Given the description of an element on the screen output the (x, y) to click on. 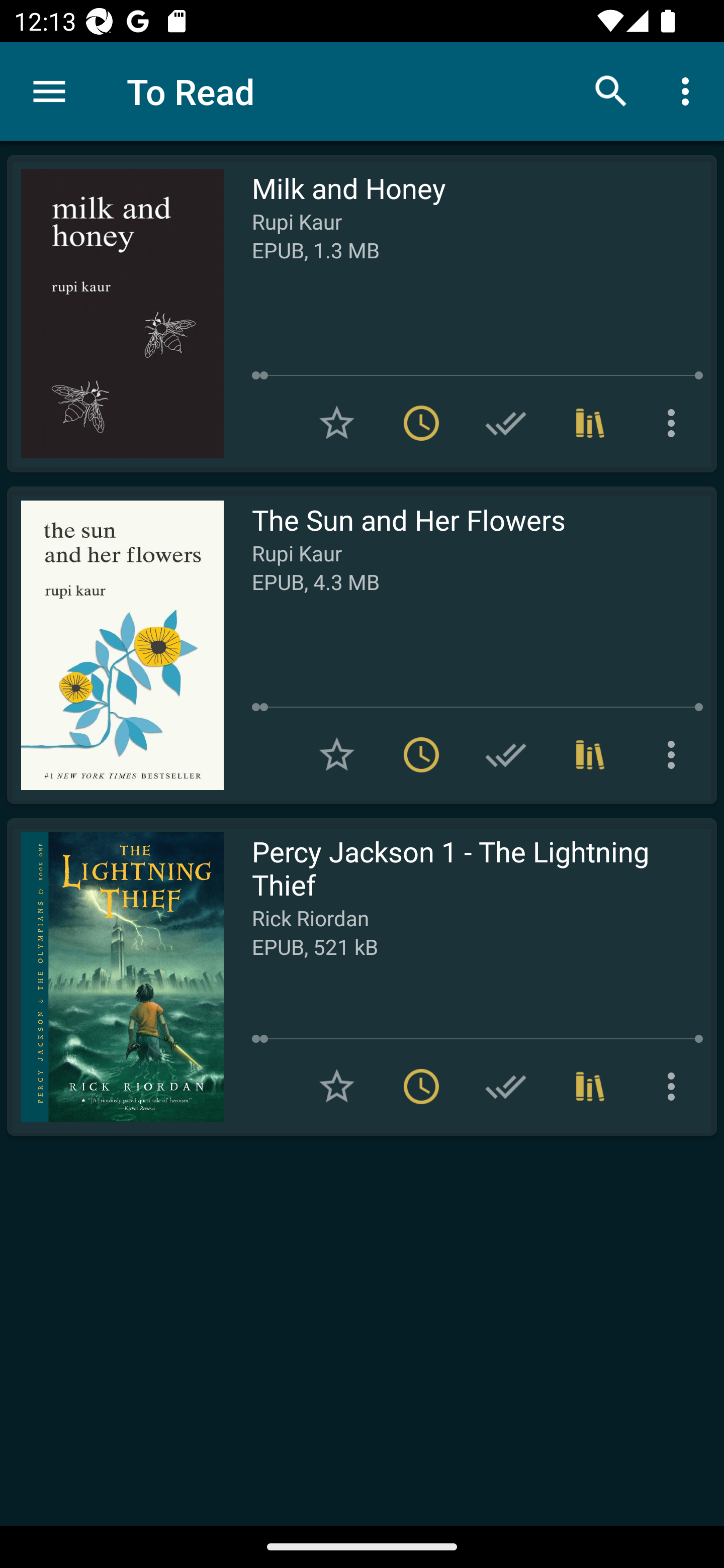
Menu (49, 91)
Search books & documents (611, 90)
More options (688, 90)
Read Milk and Honey (115, 313)
Add to Favorites (336, 423)
Remove from To read (421, 423)
Add to Have read (505, 423)
Collections (2) (590, 423)
More options (674, 423)
Read The Sun and Her Flowers (115, 645)
Add to Favorites (336, 753)
Remove from To read (421, 753)
Add to Have read (505, 753)
Collections (1) (590, 753)
More options (674, 753)
Read Percy Jackson 1 - The Lightning Thief (115, 976)
Add to Favorites (336, 1086)
Remove from To read (421, 1086)
Add to Have read (505, 1086)
Collections (1) (590, 1086)
More options (674, 1086)
